Given the description of an element on the screen output the (x, y) to click on. 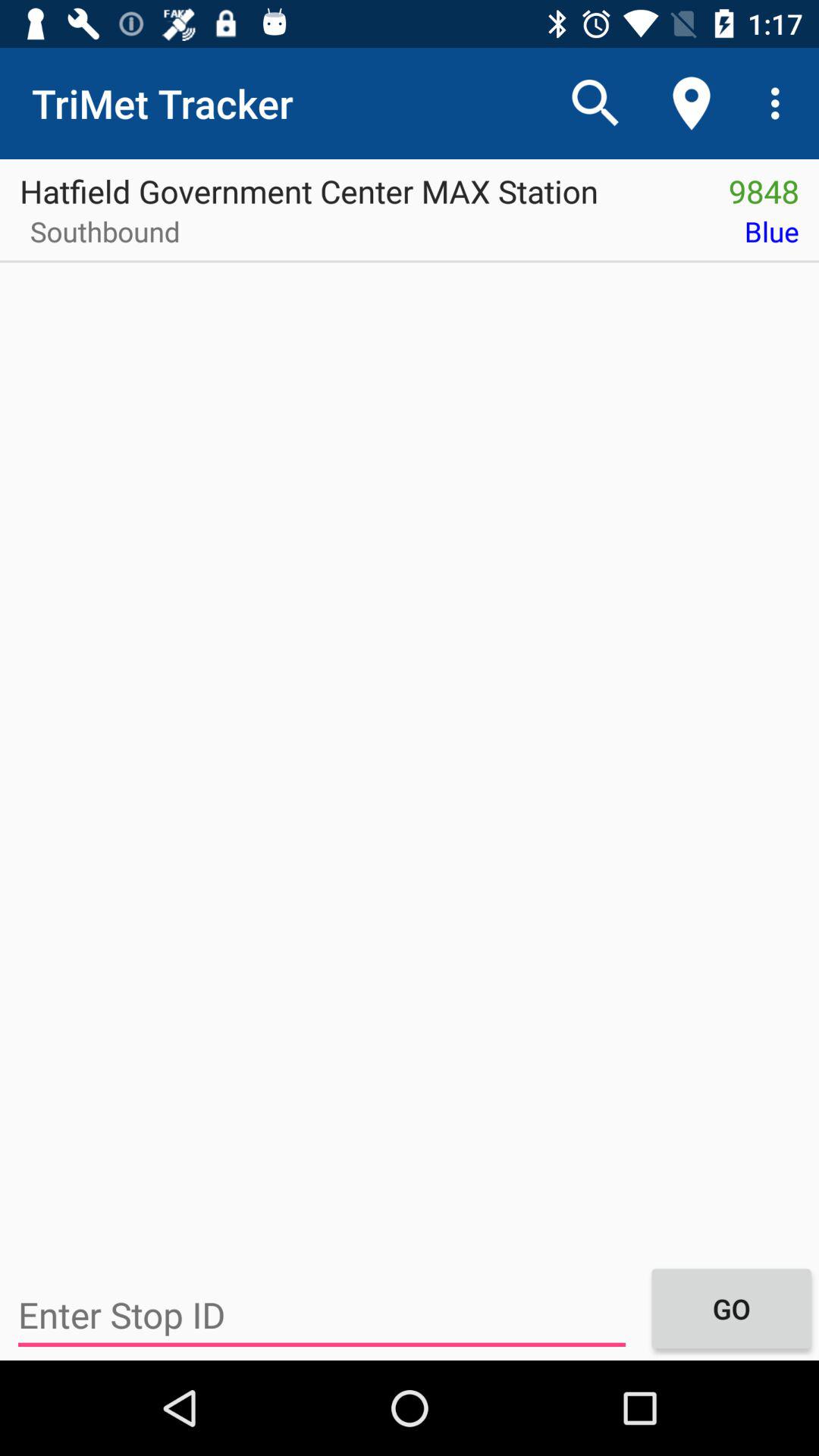
press item next to trimet tracker (595, 103)
